Given the description of an element on the screen output the (x, y) to click on. 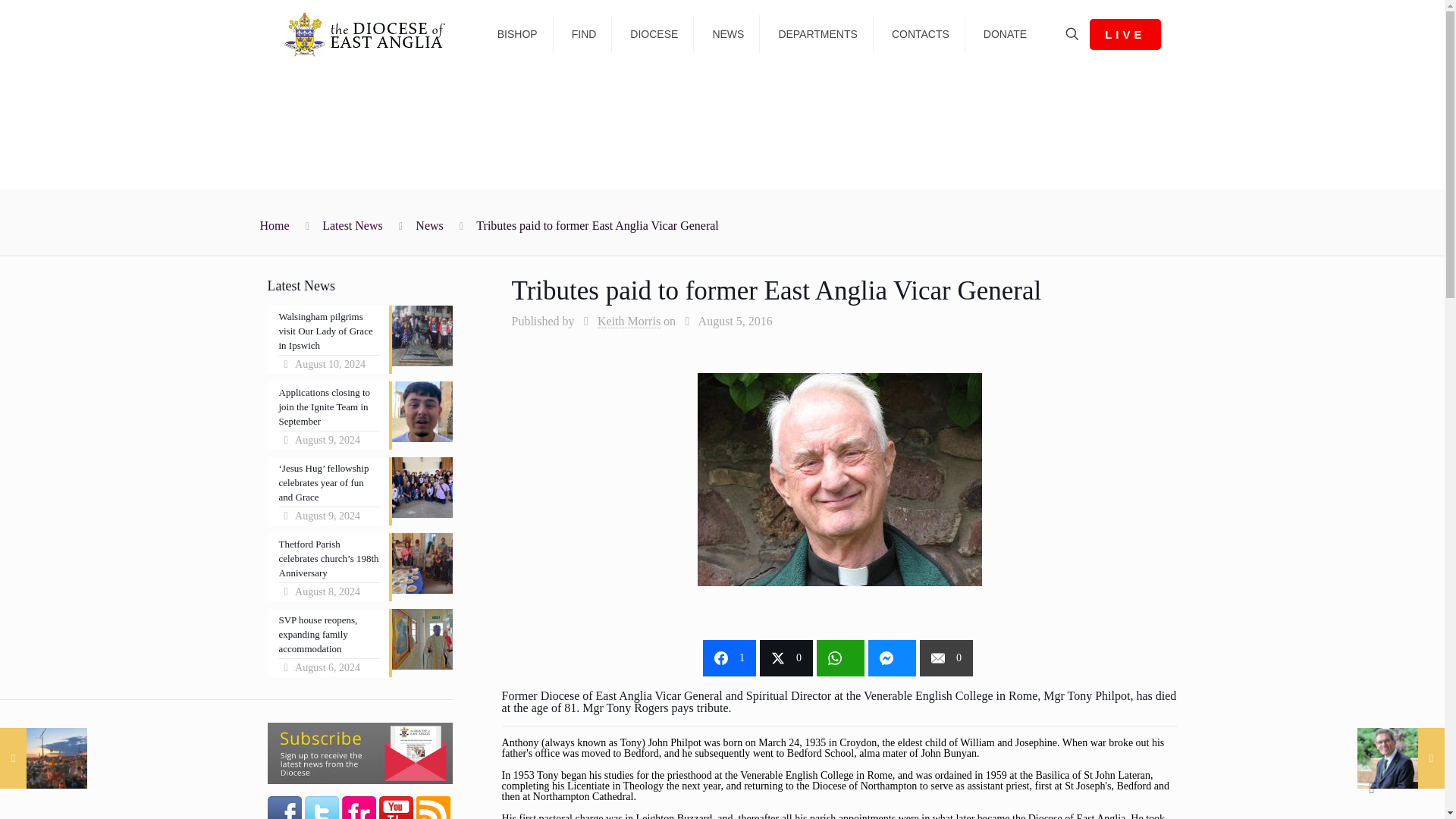
Share on Facebook (729, 657)
Share on Twitter (786, 657)
BISHOP (517, 34)
Share on Facebook Messenger (891, 657)
NEWS (728, 34)
DIOCESE (654, 34)
Share on Email (946, 657)
FIND (584, 34)
Catholic Diocese Of East Anglia (370, 33)
Share on WhatsApp (840, 657)
